Given the description of an element on the screen output the (x, y) to click on. 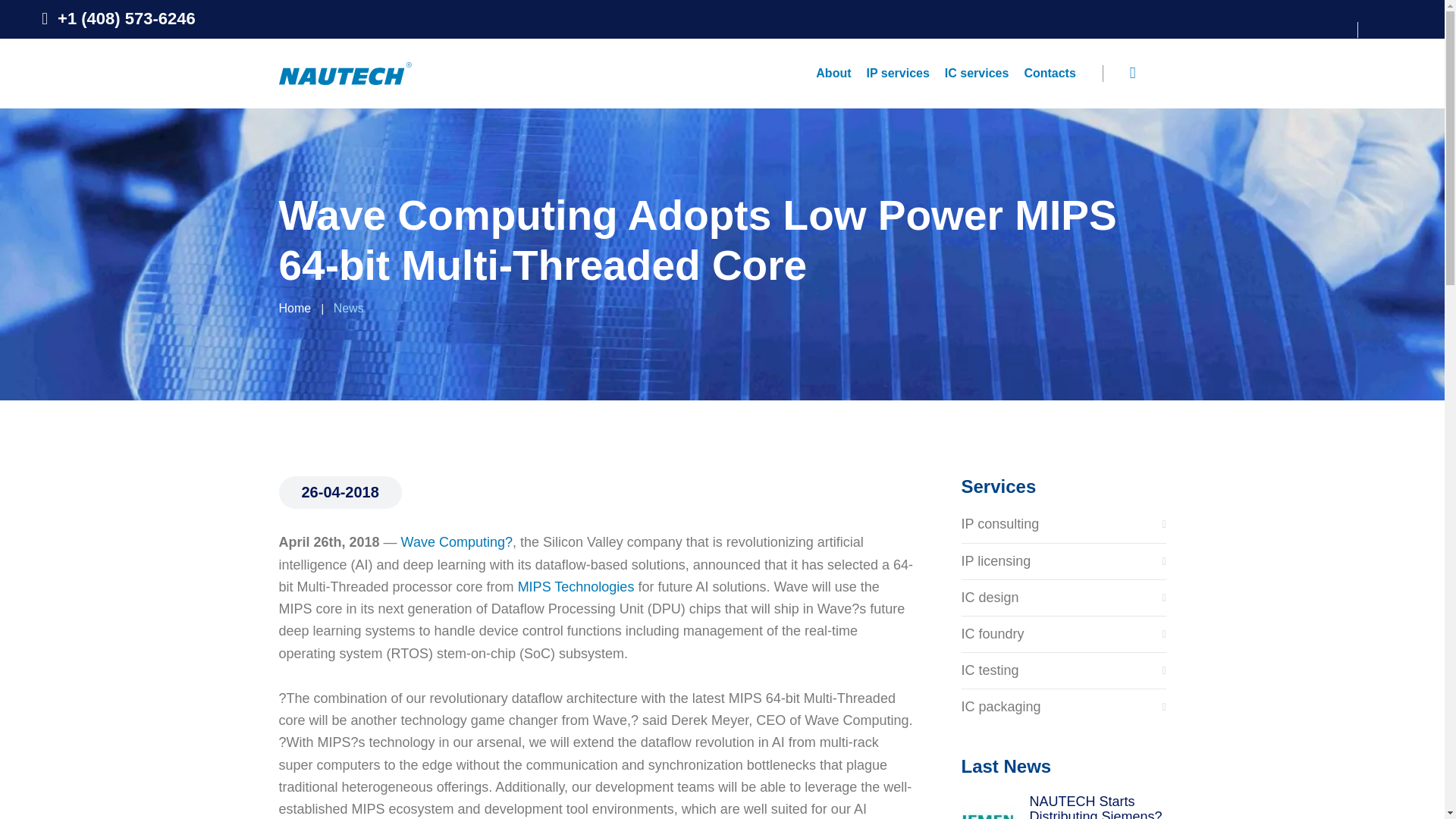
NauTech (345, 73)
IP services (898, 72)
About (832, 72)
Contacts (1049, 72)
Home (295, 308)
NauTech (345, 72)
Call us (118, 18)
IC services (976, 72)
